Given the description of an element on the screen output the (x, y) to click on. 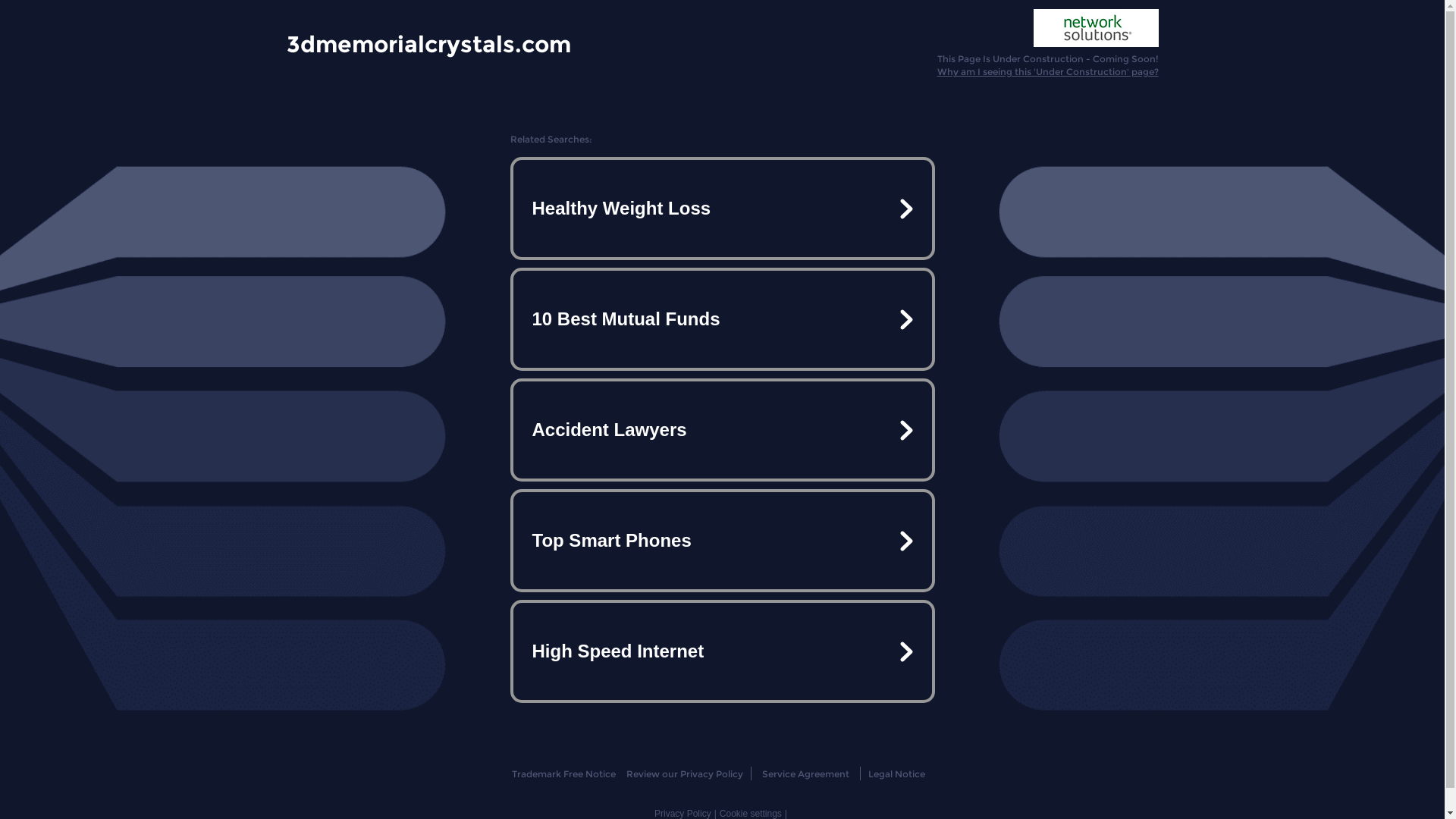
3dmemorialcrystals.com Element type: text (428, 43)
Service Agreement Element type: text (805, 773)
Healthy Weight Loss Element type: text (721, 208)
10 Best Mutual Funds Element type: text (721, 318)
Top Smart Phones Element type: text (721, 540)
Legal Notice Element type: text (896, 773)
Why am I seeing this 'Under Construction' page? Element type: text (1047, 71)
Trademark Free Notice Element type: text (563, 773)
Review our Privacy Policy Element type: text (684, 773)
High Speed Internet Element type: text (721, 650)
Accident Lawyers Element type: text (721, 429)
